Given the description of an element on the screen output the (x, y) to click on. 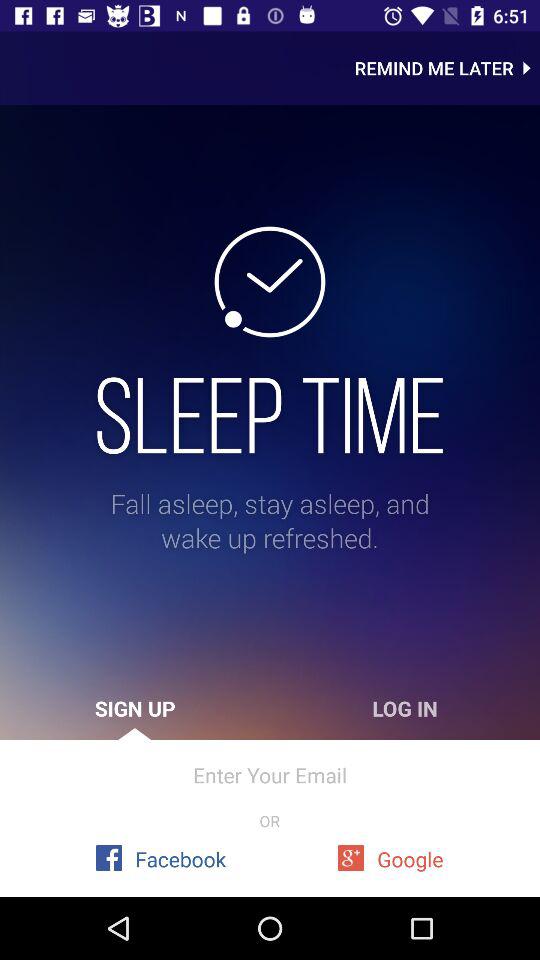
swipe to remind me later (447, 67)
